Given the description of an element on the screen output the (x, y) to click on. 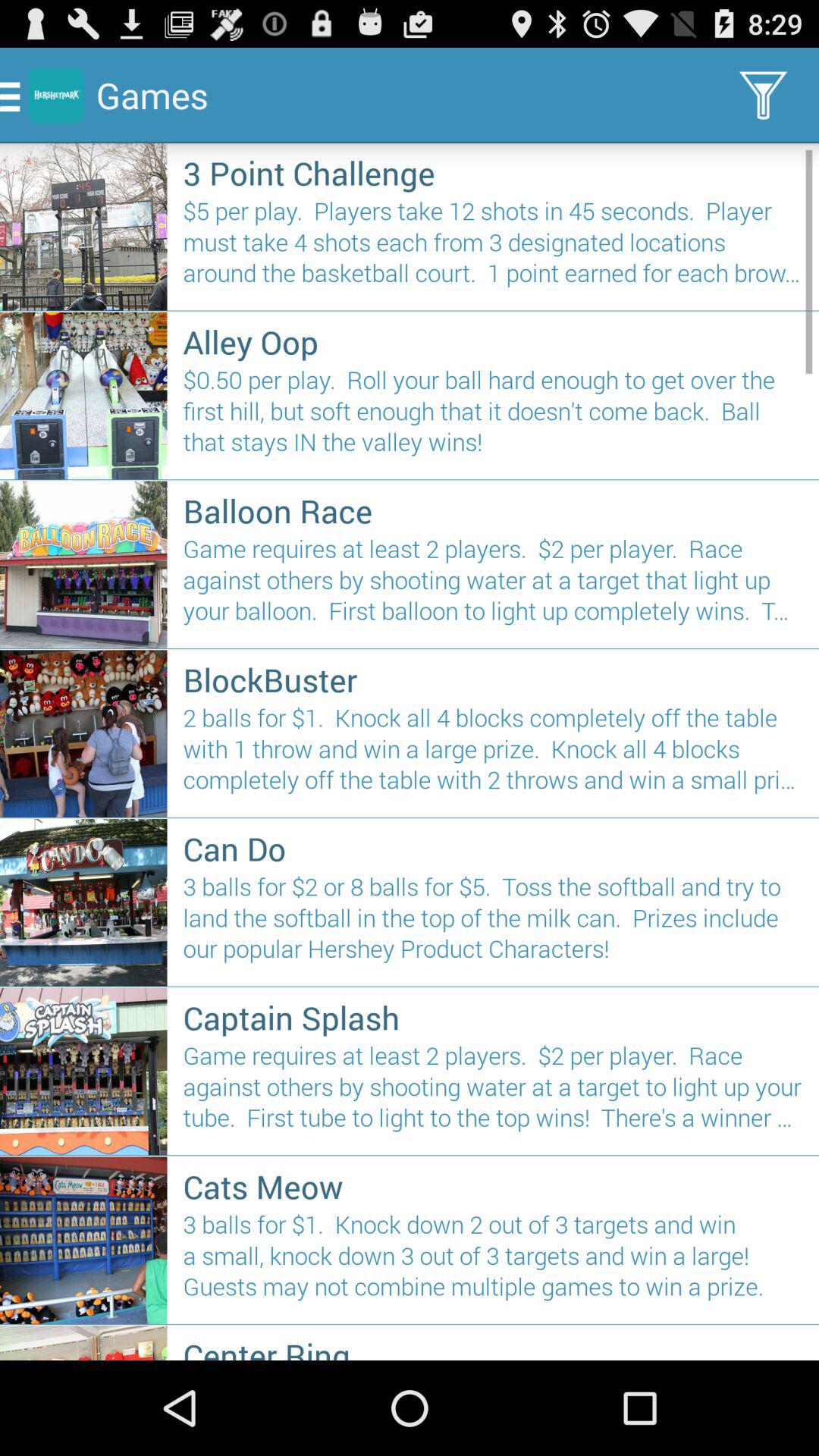
launch can do icon (493, 848)
